Given the description of an element on the screen output the (x, y) to click on. 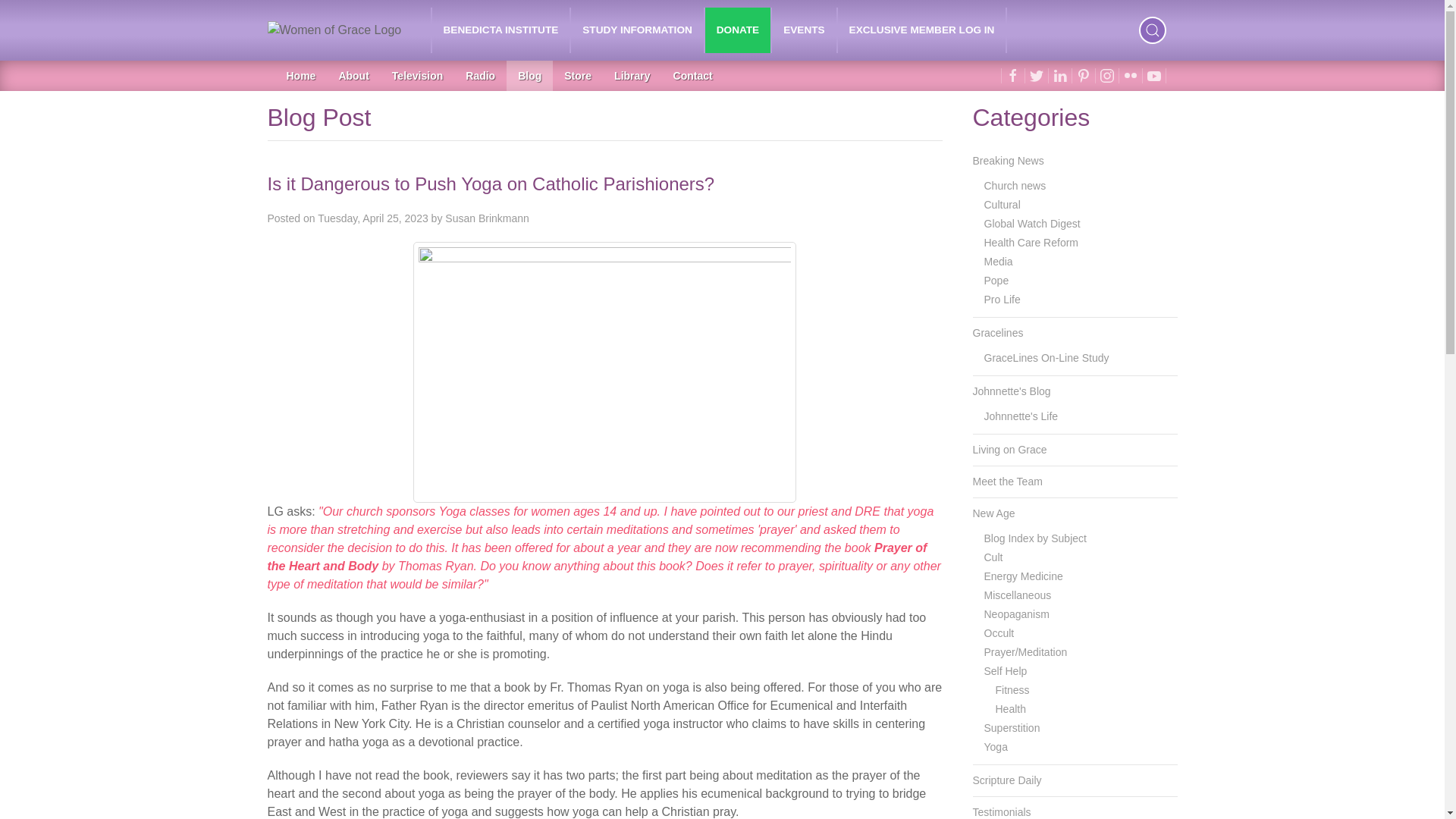
Tuesday, April 25, 2023 (372, 218)
Church news (1080, 185)
Cultural (1080, 204)
EVENTS (803, 30)
Blog (529, 75)
Store (577, 75)
DONATE (737, 30)
View all posts by Susan Brinkmann (487, 218)
Contact (692, 75)
 9:21 am (372, 218)
